Given the description of an element on the screen output the (x, y) to click on. 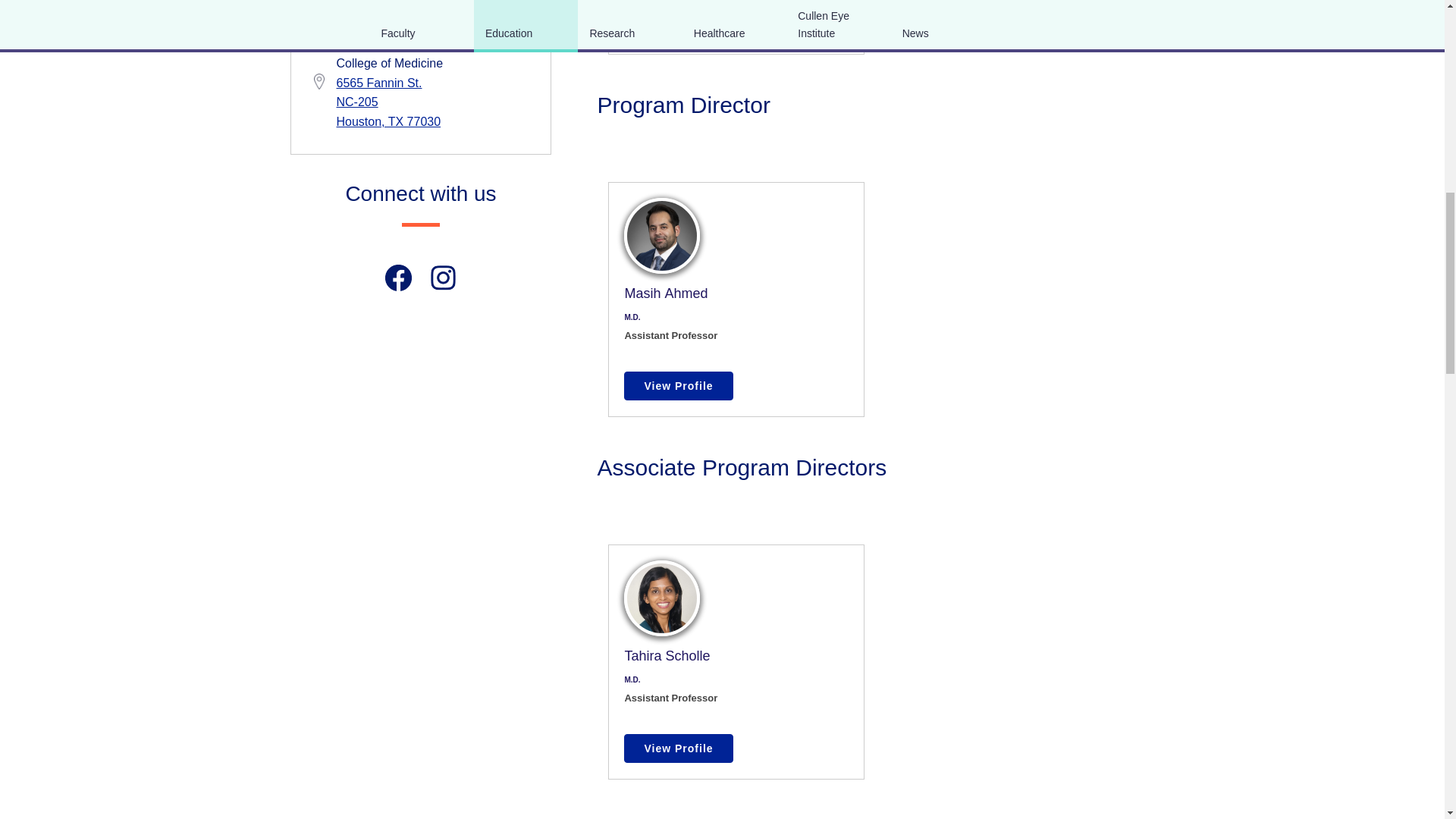
instagram (443, 277)
facebook (398, 277)
